Given the description of an element on the screen output the (x, y) to click on. 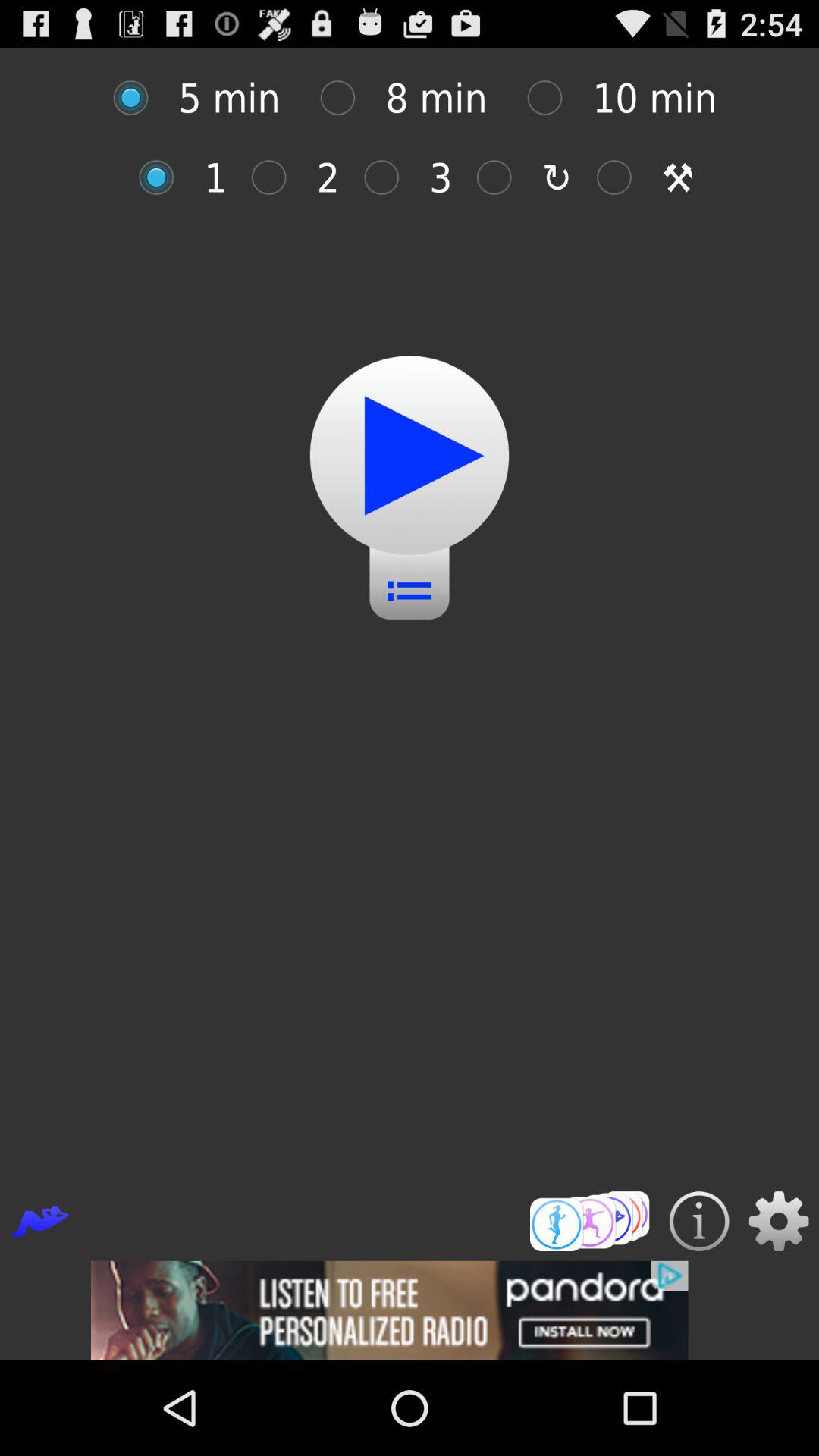
setting (778, 1221)
